Given the description of an element on the screen output the (x, y) to click on. 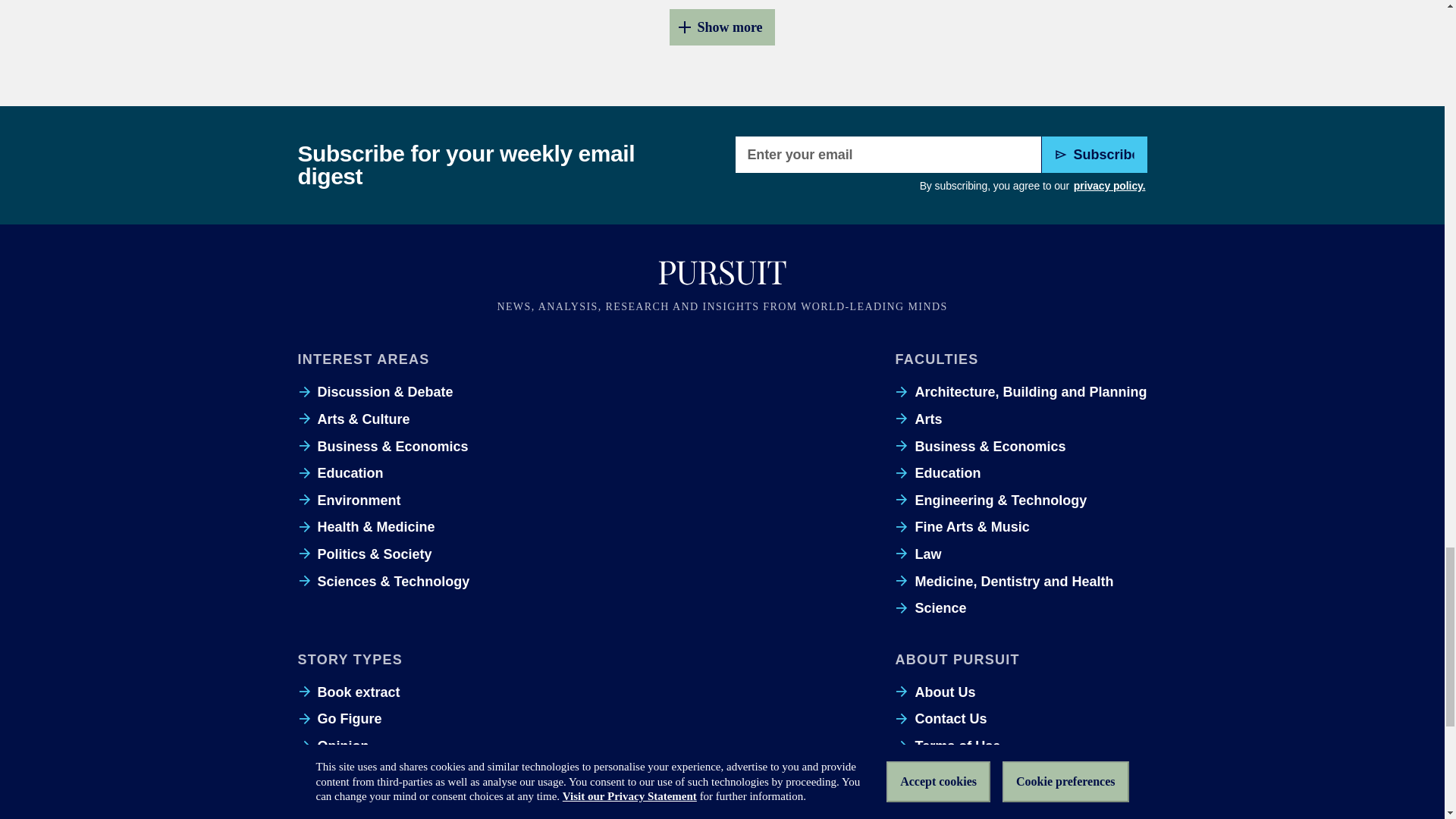
privacy policy. (1109, 186)
Show more (721, 27)
Education (339, 473)
